Given the description of an element on the screen output the (x, y) to click on. 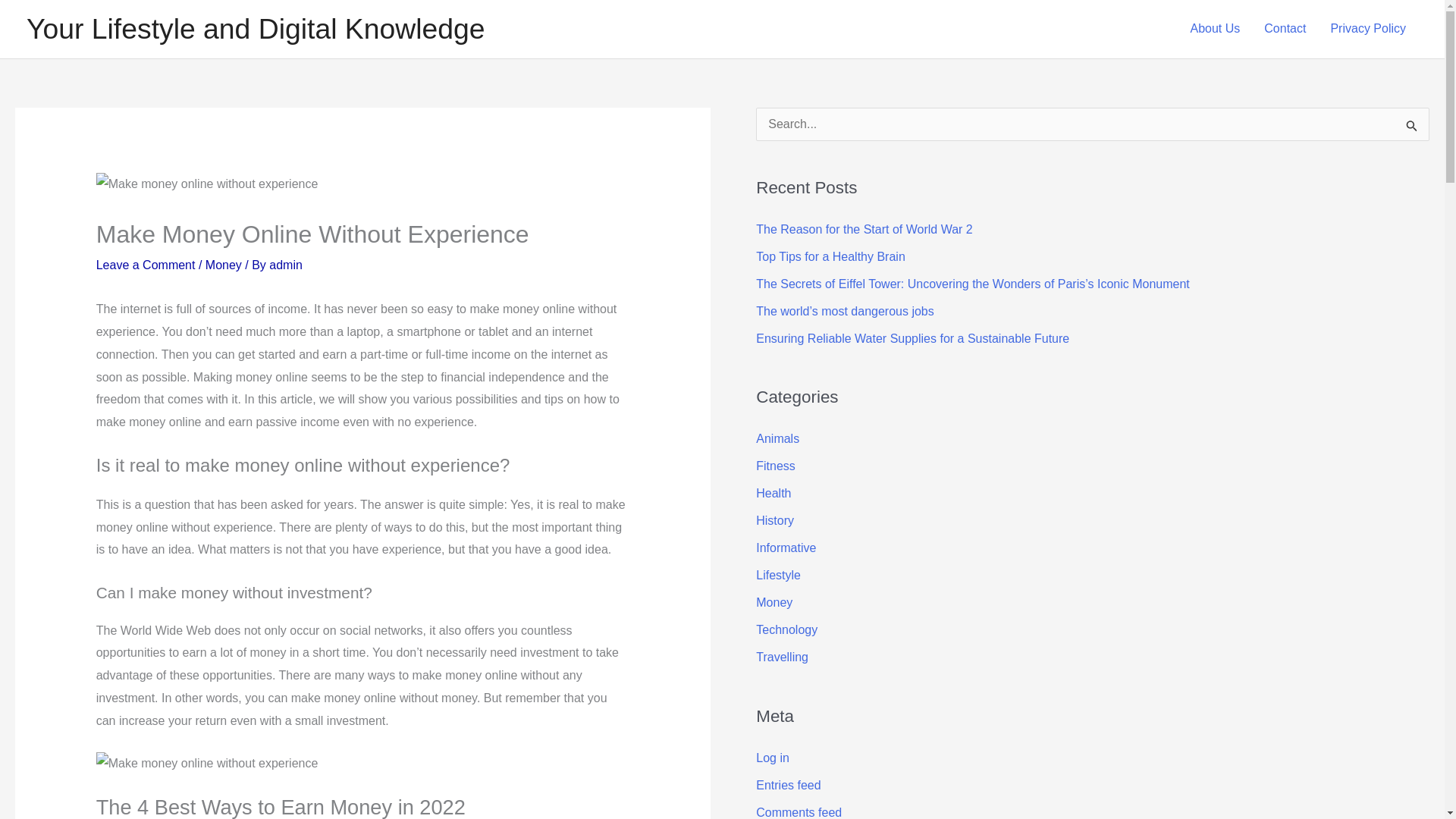
Privacy Policy (1367, 28)
admin (285, 264)
Log in (772, 757)
Money (773, 602)
Top Tips for a Healthy Brain (830, 256)
Lifestyle (777, 574)
Contact (1284, 28)
Money (223, 264)
Ensuring Reliable Water Supplies for a Sustainable Future (911, 338)
Fitness (774, 465)
